Given the description of an element on the screen output the (x, y) to click on. 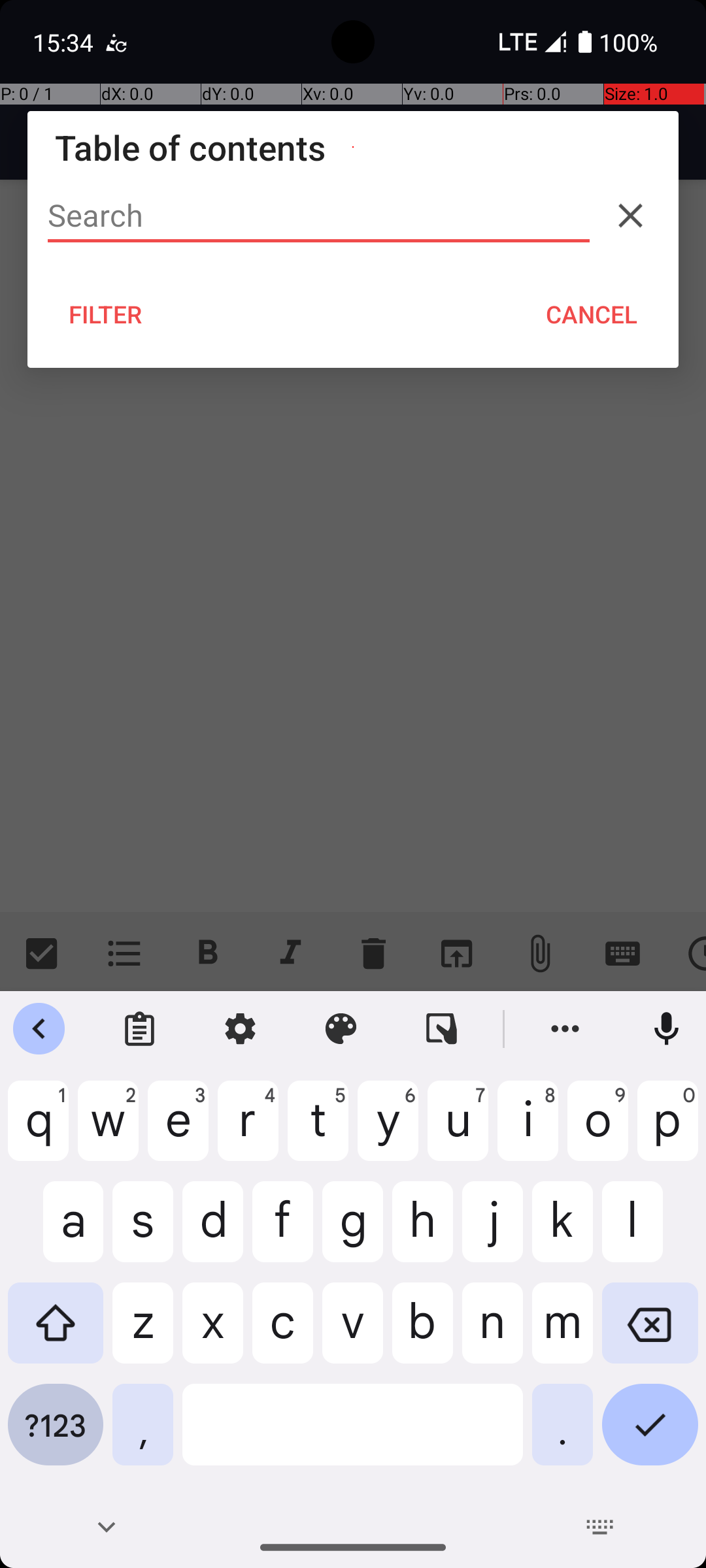
FILTER Element type: android.widget.Button (105, 313)
